Given the description of an element on the screen output the (x, y) to click on. 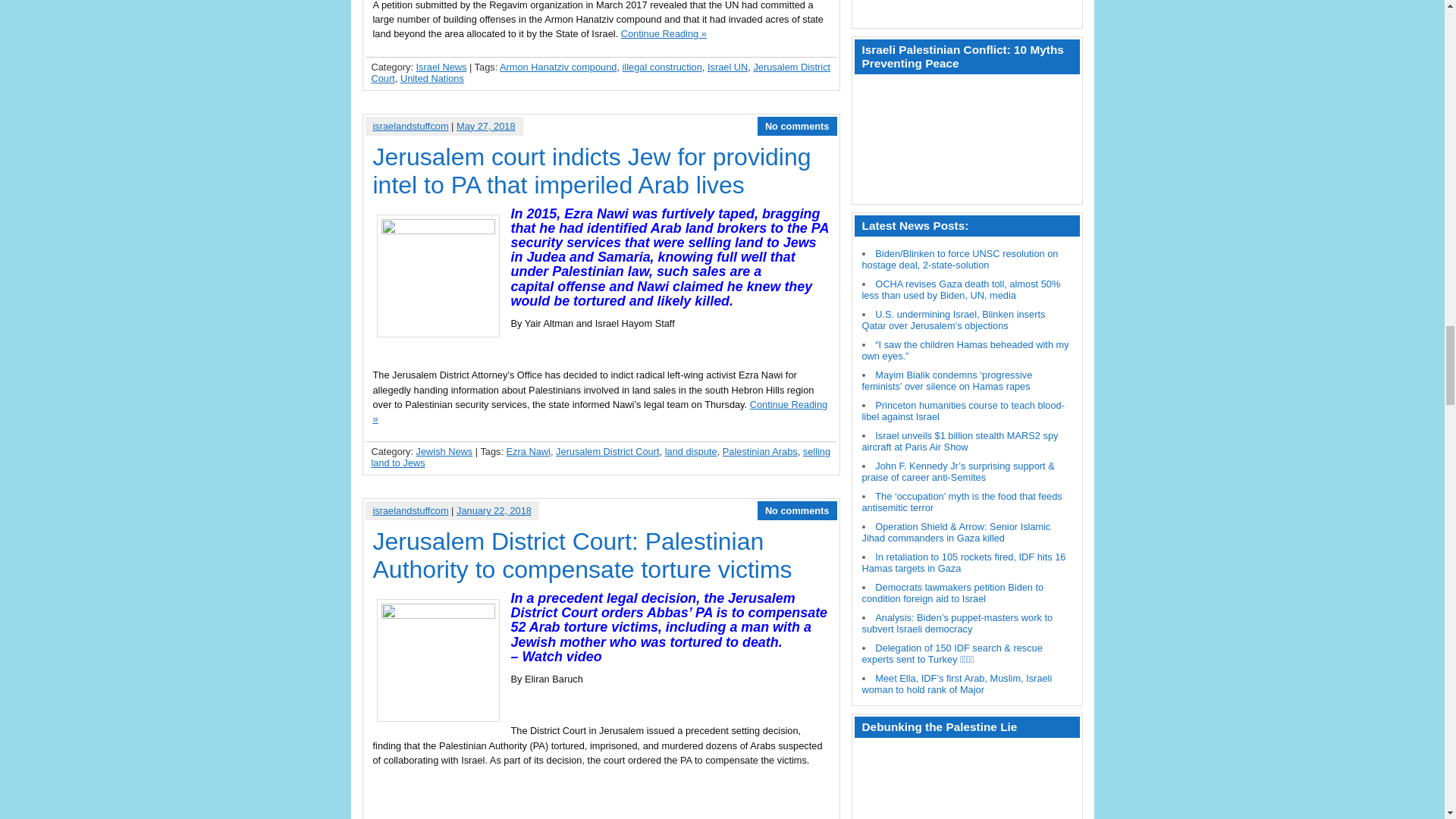
Posts by israelandstuffcom (410, 125)
Posts by israelandstuffcom (410, 510)
